Given the description of an element on the screen output the (x, y) to click on. 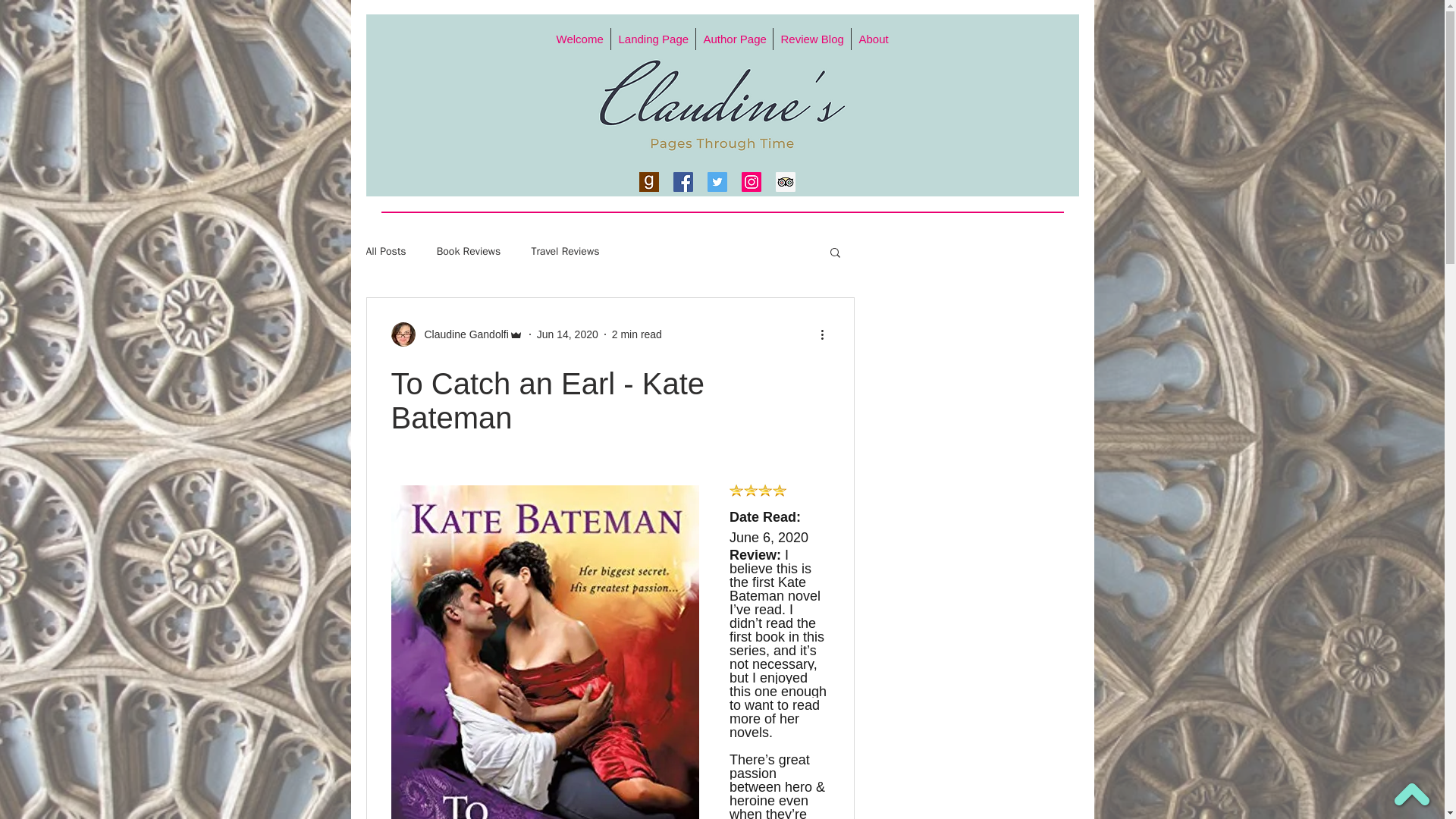
2 min read (636, 333)
Landing Page (653, 38)
Review Blog (811, 38)
Travel Reviews (564, 251)
Author Page (734, 38)
Welcome (579, 38)
Book Reviews (468, 251)
Claudine Gandolfi (461, 333)
About (872, 38)
Linkedin Hero Image.png (721, 105)
